Given the description of an element on the screen output the (x, y) to click on. 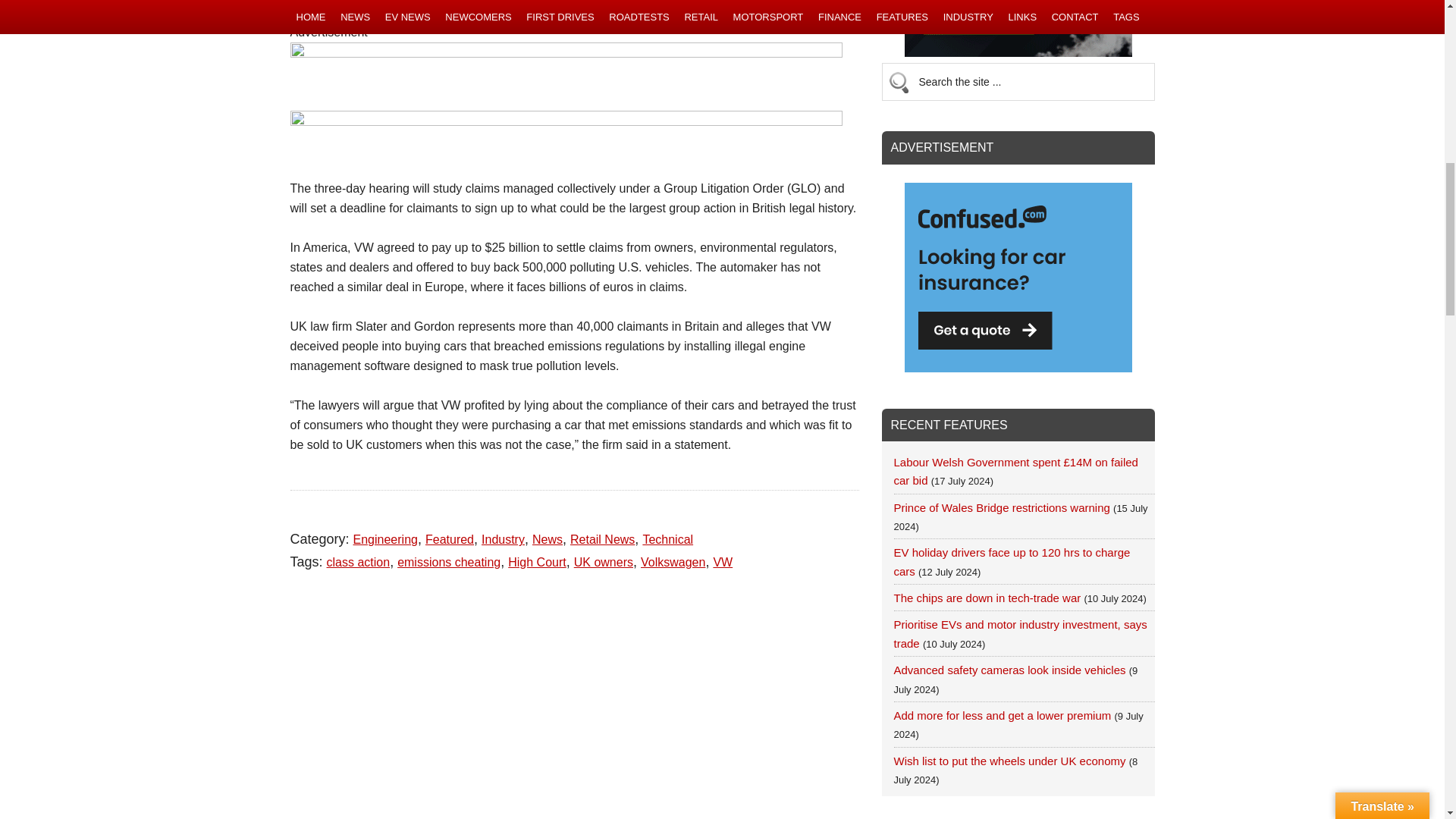
Permanent link to The chips are down in tech-trade war (986, 597)
Permanent link to Add more for less and get a lower premium (1001, 715)
